Given the description of an element on the screen output the (x, y) to click on. 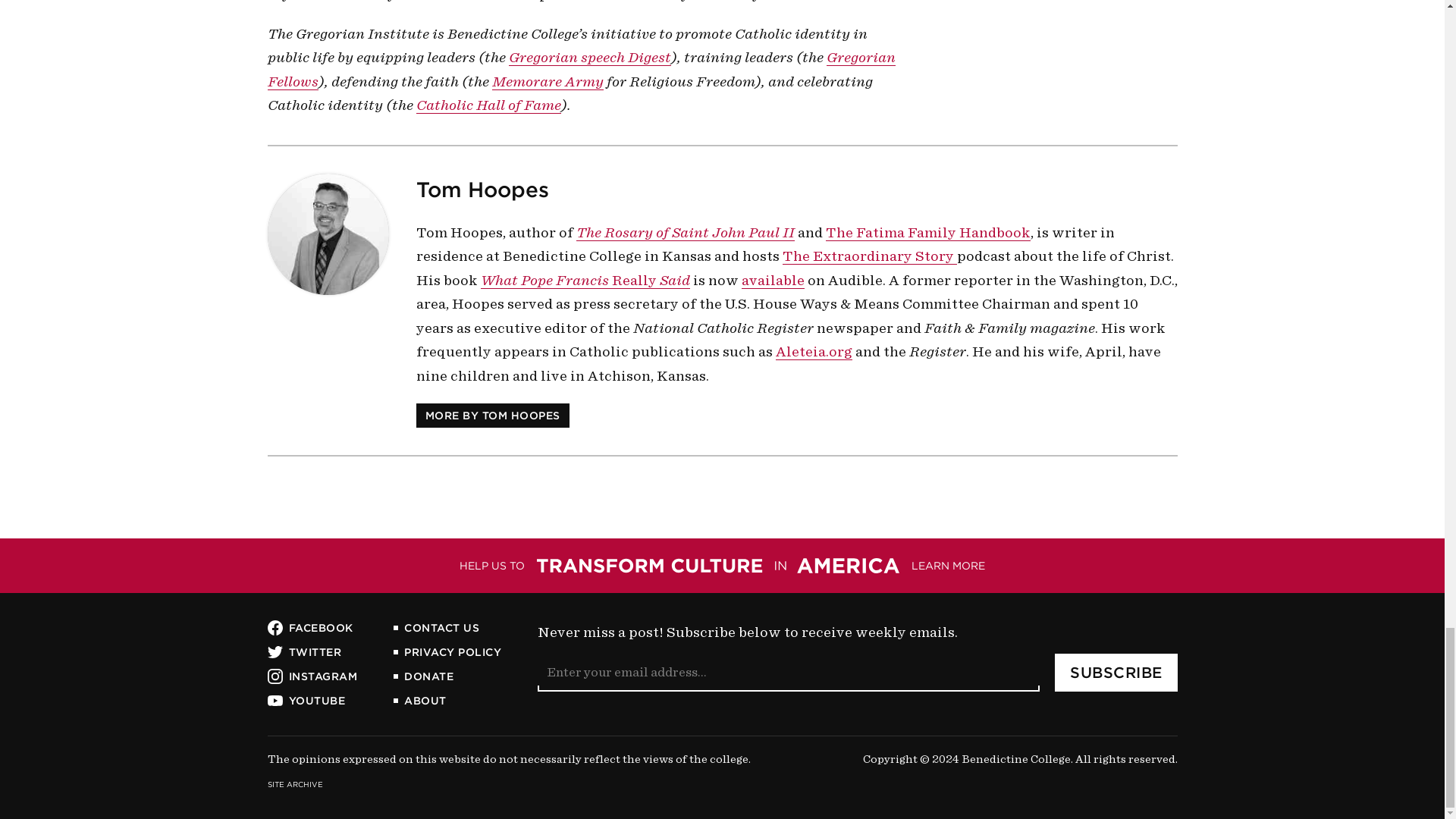
Subscribe (1115, 672)
Catholic Hall of Fame (487, 105)
The Extraordinary Story (869, 256)
The Rosary of Saint John Paul II (685, 232)
MORE BY TOM HOOPES (491, 415)
available (773, 279)
What Pope Francis Really Said (585, 279)
Memorare Army (547, 80)
The Fatima Family Handbook (927, 232)
Gregorian Fellows (580, 69)
Gregorian speech Digest (588, 57)
Aleteia.org (812, 351)
